Given the description of an element on the screen output the (x, y) to click on. 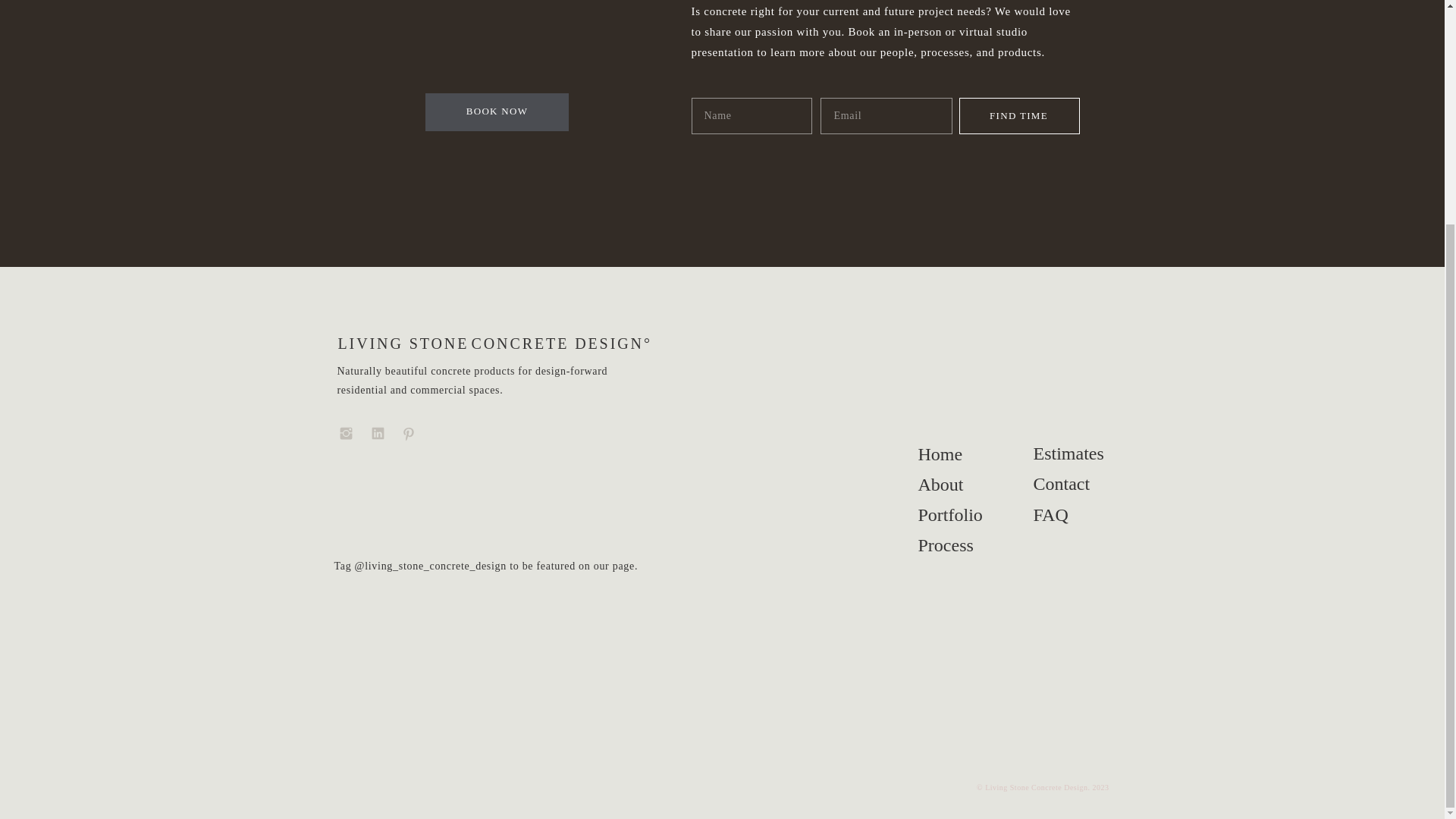
Contact (1068, 484)
Home (953, 455)
LIVING STONE (480, 344)
Estimates (1068, 454)
Process (953, 546)
About (953, 485)
FAQ (1068, 515)
Portfolio (953, 515)
